Given the description of an element on the screen output the (x, y) to click on. 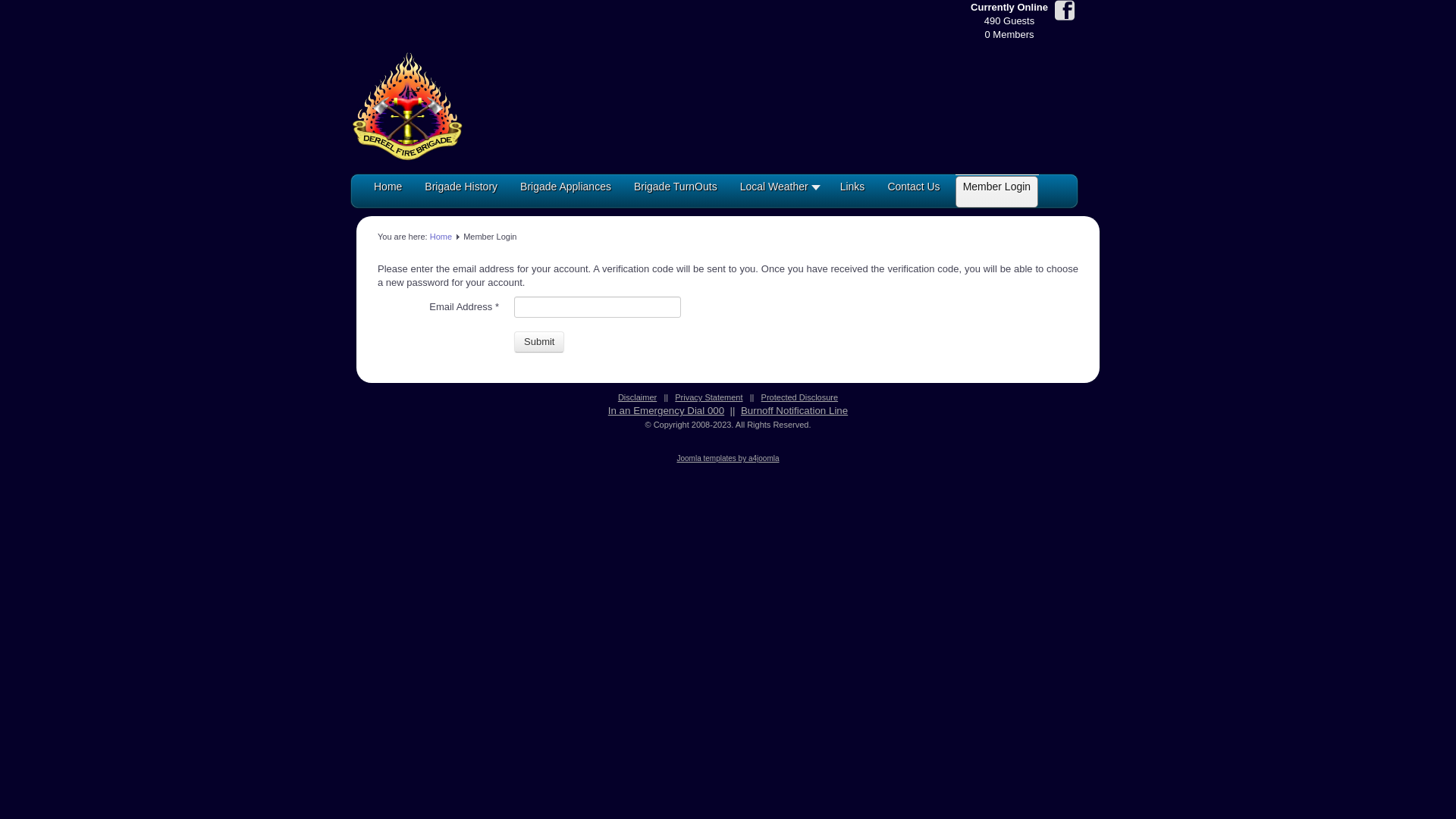
In an Emergency Dial 000 Element type: text (666, 410)
Local Weather Element type: text (778, 192)
Brigade History Element type: text (460, 192)
Home Element type: text (387, 192)
Member Login Element type: text (997, 192)
Submit Element type: text (539, 341)
Privacy Statement Element type: text (708, 396)
Contact Us Element type: text (913, 192)
Home Element type: text (440, 236)
Brigade Appliances Element type: text (565, 192)
Brigade TurnOuts Element type: text (675, 192)
Protected Disclosure Element type: text (799, 396)
Dereel Fire Brigade -- CFA Volunteers Element type: hover (407, 103)
Facebook Element type: hover (1064, 11)
Disclaimer Element type: text (637, 396)
Joomla templates by a4joomla Element type: text (727, 458)
Burnoff Notification Line Element type: text (793, 410)
Links Element type: text (852, 192)
